Given the description of an element on the screen output the (x, y) to click on. 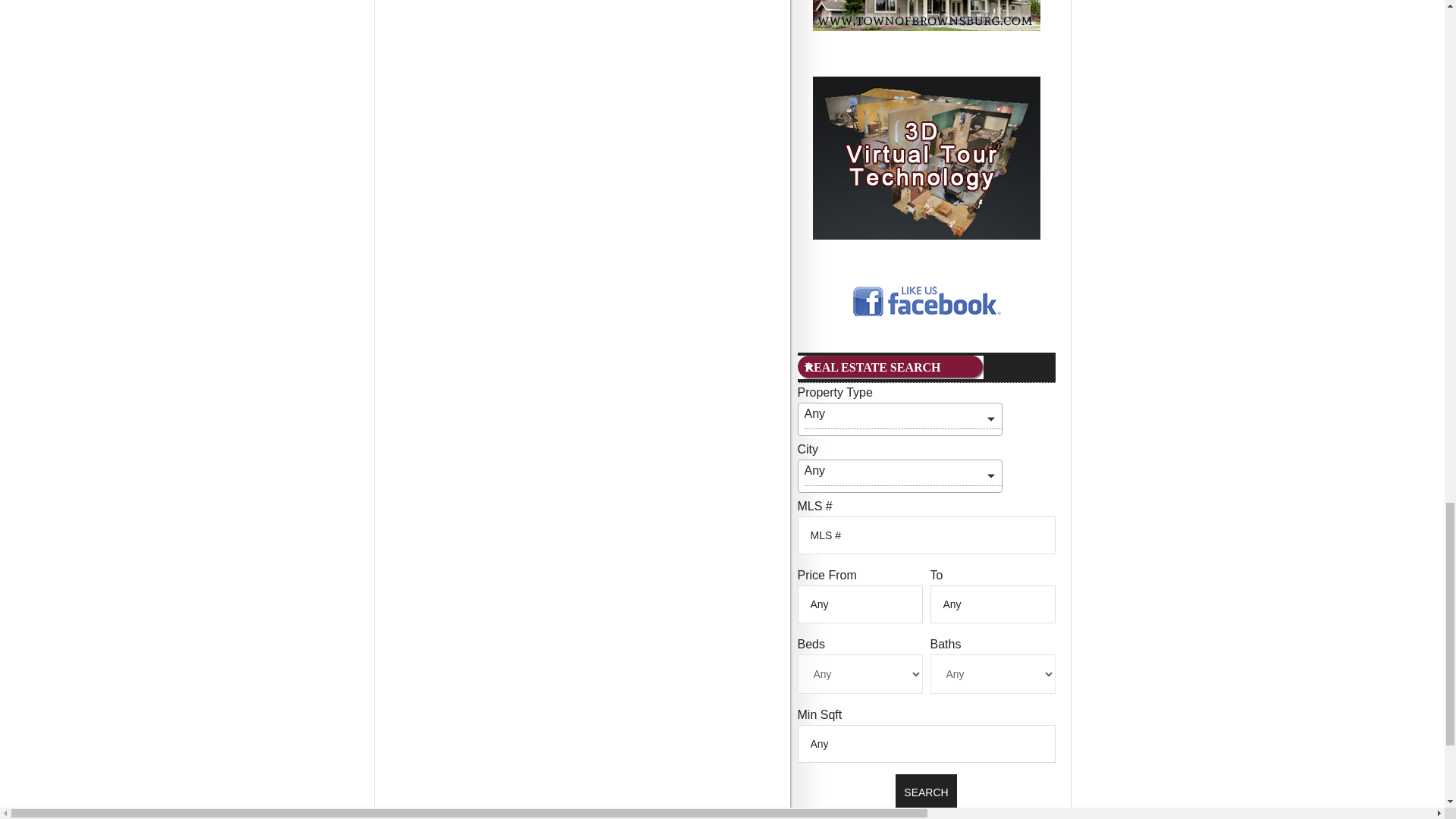
Search (925, 791)
